Given the description of an element on the screen output the (x, y) to click on. 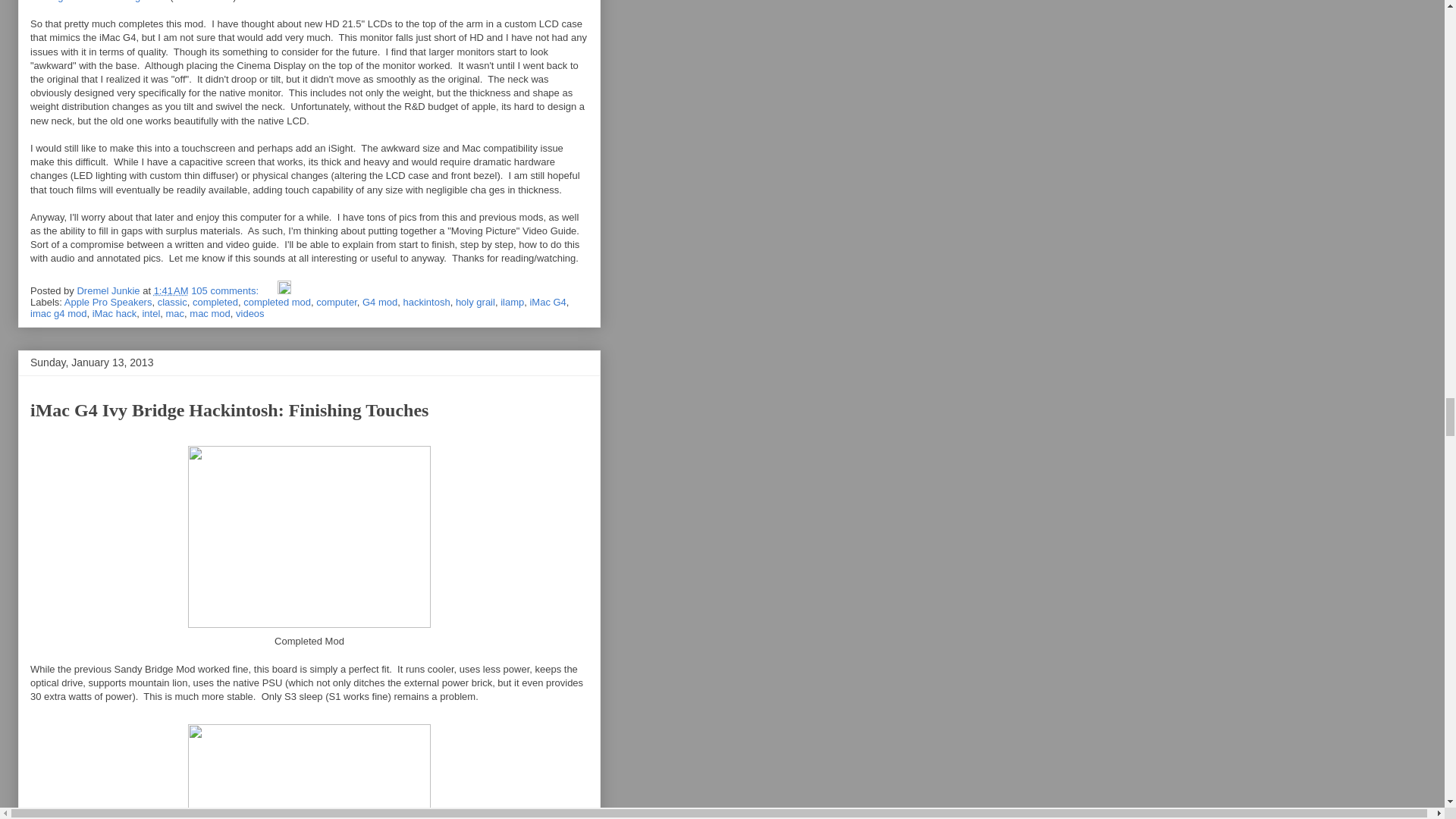
author profile (109, 290)
permanent link (171, 290)
